Given the description of an element on the screen output the (x, y) to click on. 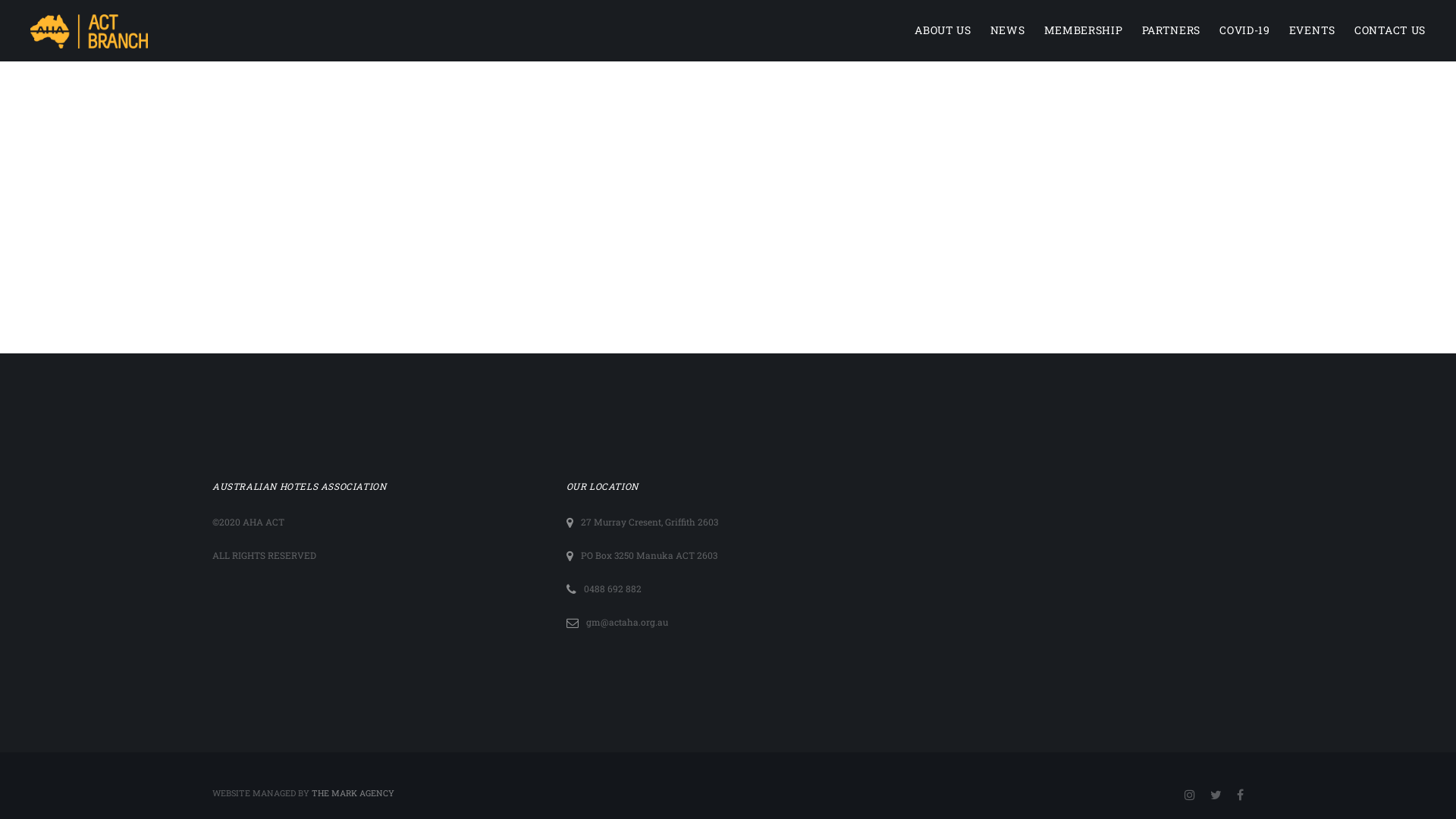
COVID-19 Element type: text (1244, 30)
ABOUT US Element type: text (942, 30)
PARTNERS Element type: text (1171, 30)
MEMBERSHIP Element type: text (1083, 30)
CONTACT US Element type: text (1389, 30)
gm@actaha.org.au Element type: text (627, 621)
0488 692 882 Element type: text (612, 588)
EVENTS Element type: text (1312, 30)
THE MARK AGENCY Element type: text (352, 792)
NEWS Element type: text (1007, 30)
